Given the description of an element on the screen output the (x, y) to click on. 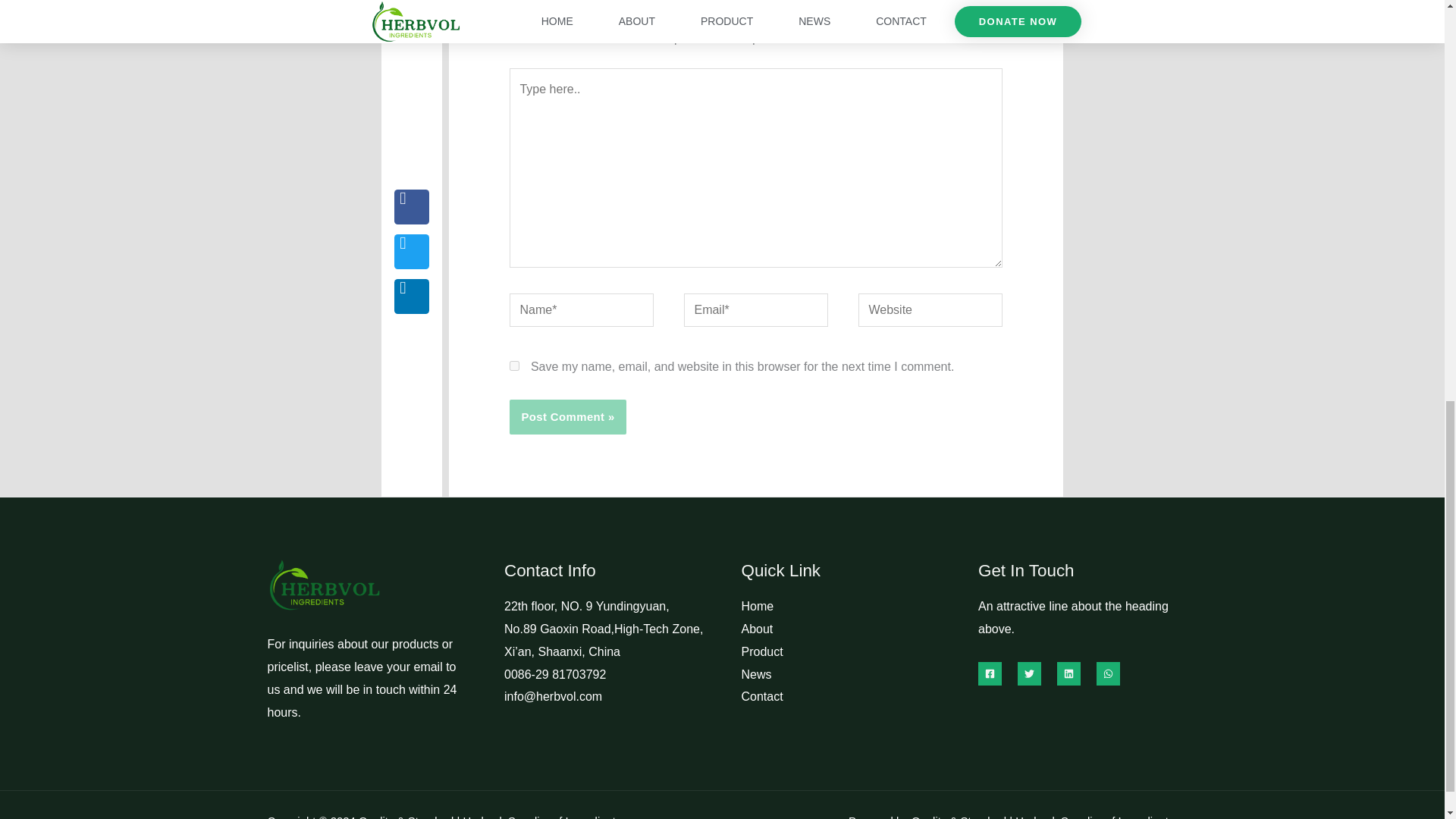
yes (514, 366)
Product (762, 651)
Home (757, 605)
About (757, 628)
News (756, 674)
Contact (762, 696)
